Given the description of an element on the screen output the (x, y) to click on. 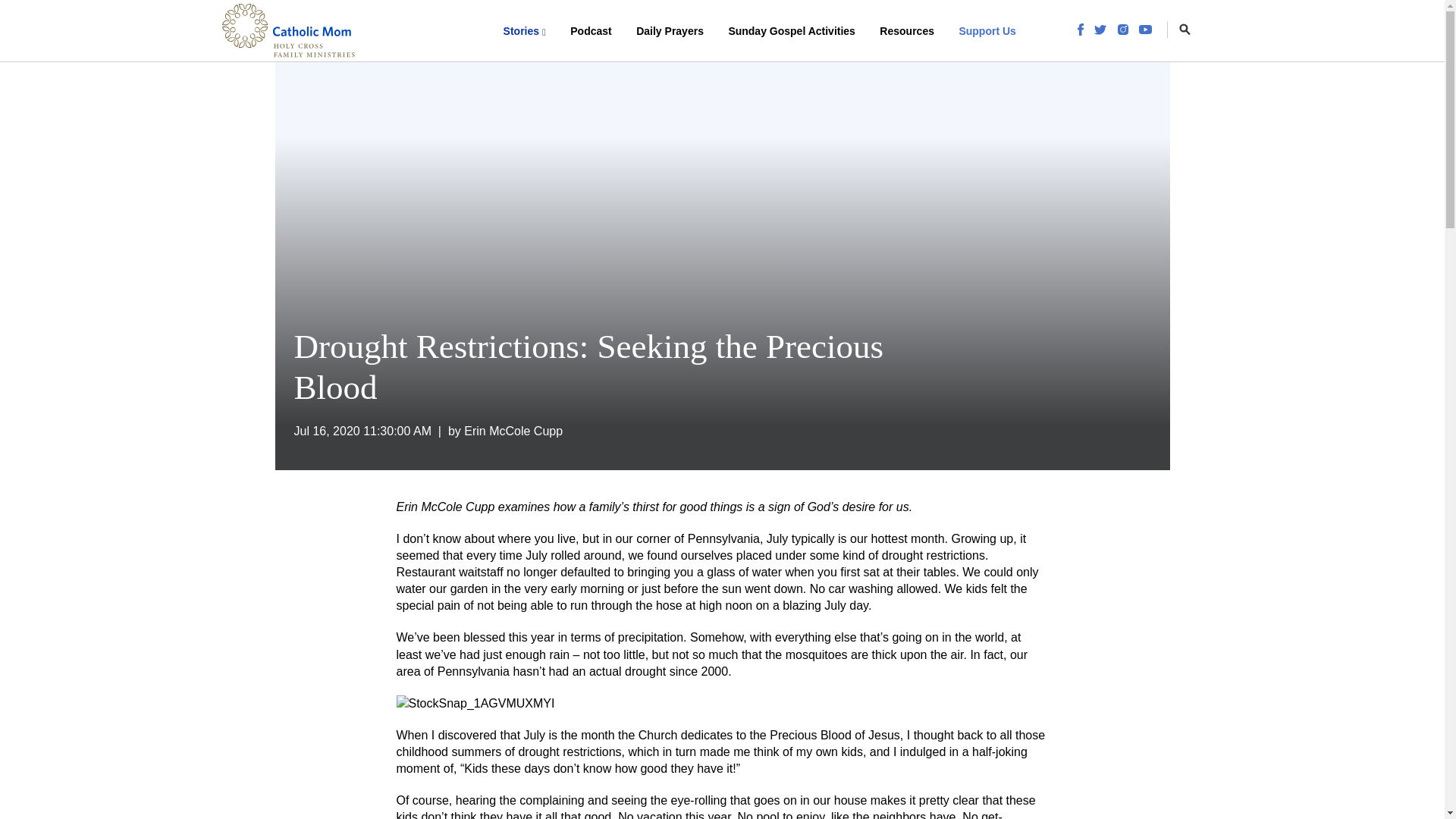
PARENTING (339, 39)
Podcast (590, 30)
Support Us (986, 30)
Resources (906, 30)
Erin McCole Cupp (513, 431)
Daily Prayers (670, 30)
Stories (524, 30)
Sunday Gospel Activities (791, 30)
catholic-mom-logo-v2 (288, 30)
